Given the description of an element on the screen output the (x, y) to click on. 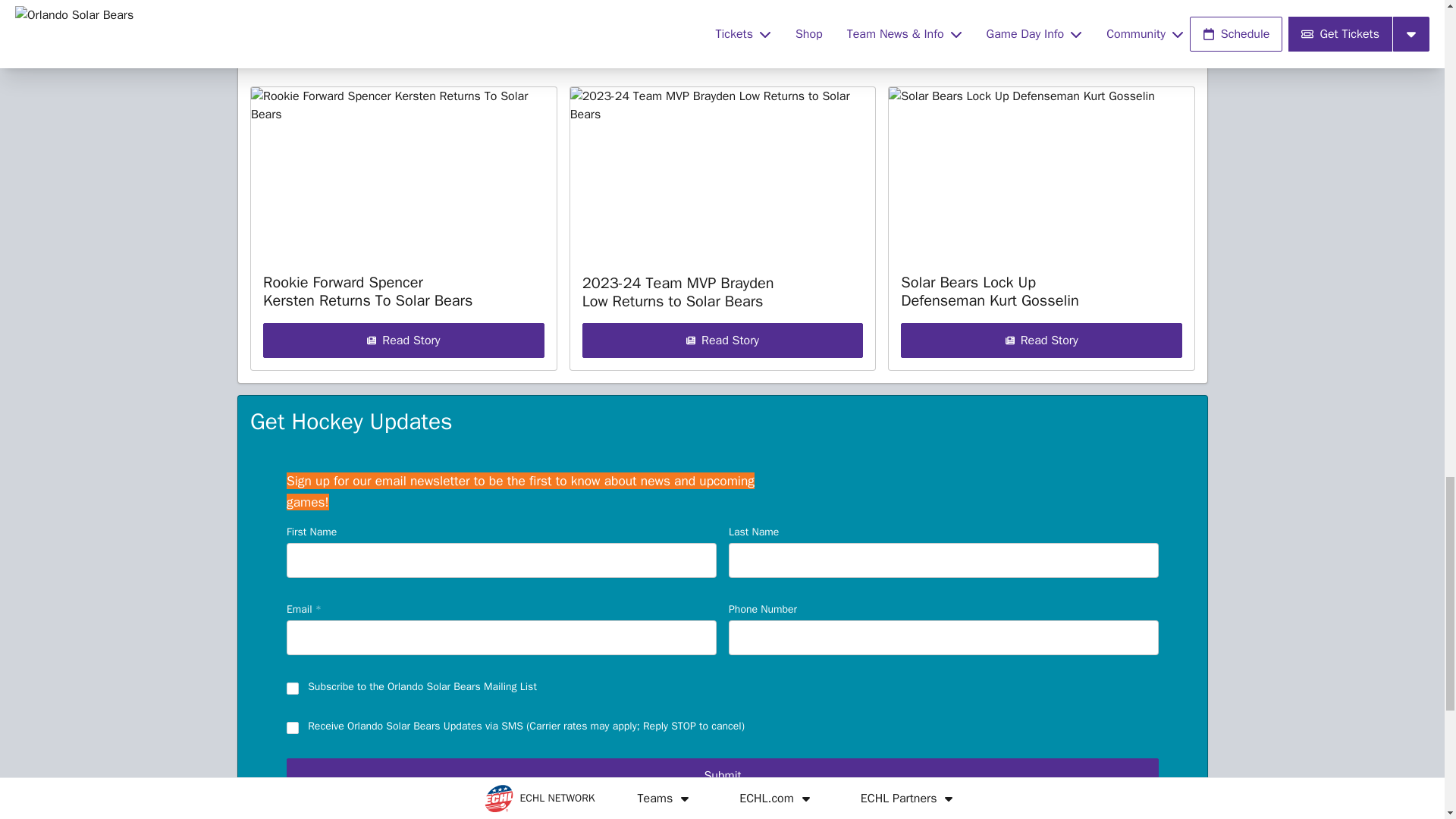
on (292, 728)
on (292, 689)
